Given the description of an element on the screen output the (x, y) to click on. 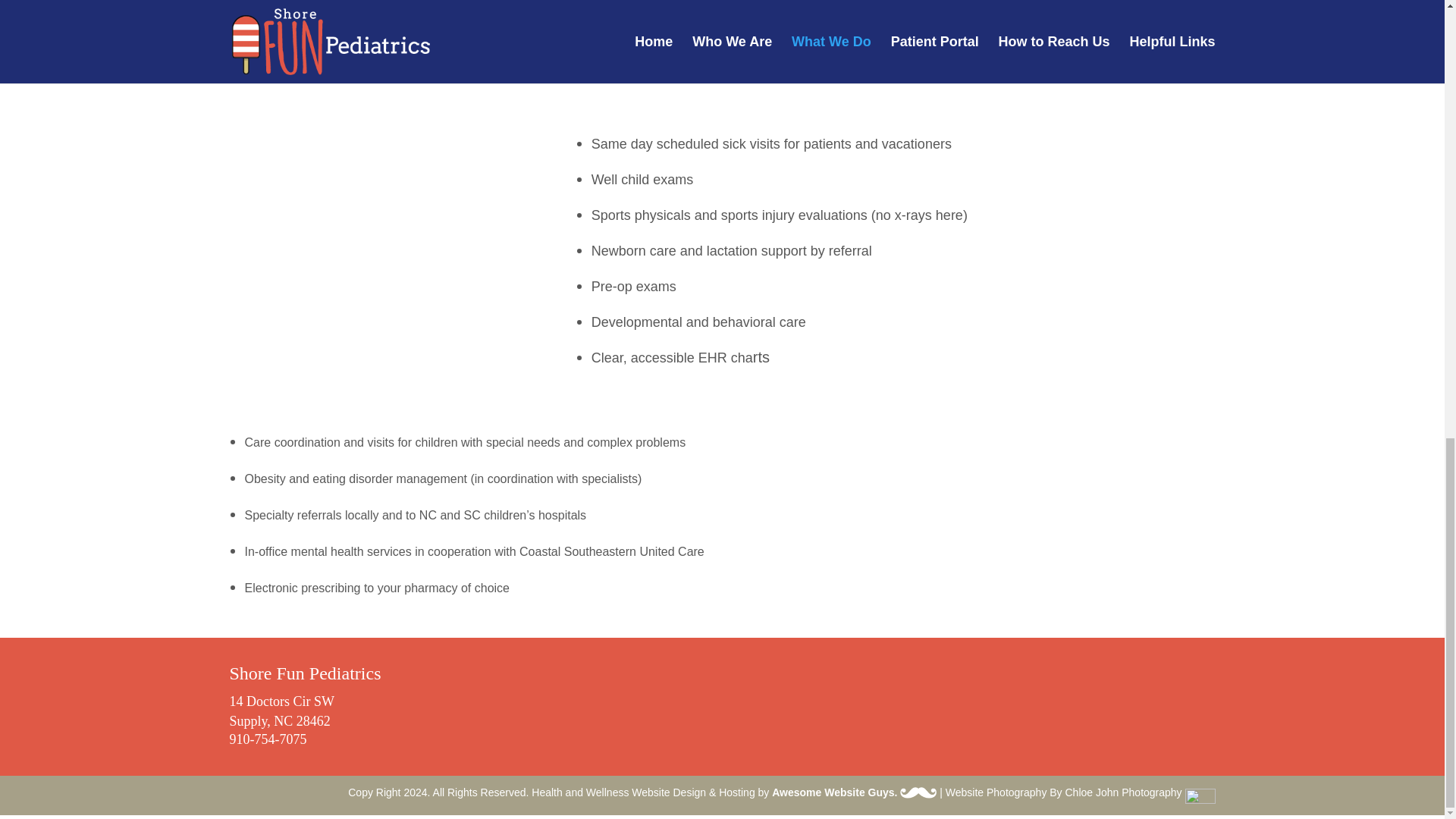
Website Photography By Chloe John Photography (1079, 792)
Awesome Website Guys. (853, 792)
Health and Wellness Website Design (618, 792)
